Given the description of an element on the screen output the (x, y) to click on. 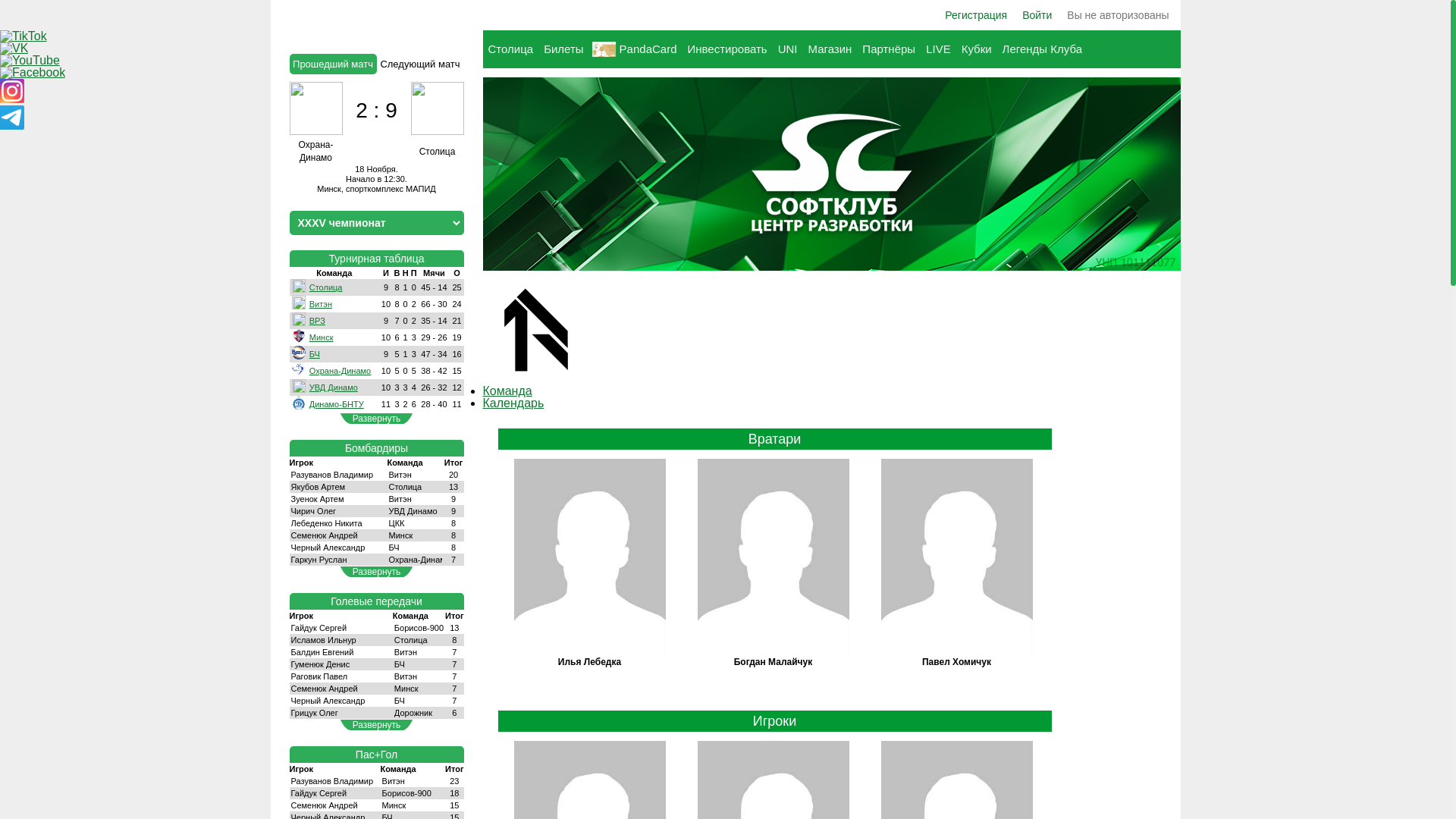
UNI Element type: text (787, 49)
LIVE Element type: text (938, 49)
PandaCard Element type: text (635, 49)
